Given the description of an element on the screen output the (x, y) to click on. 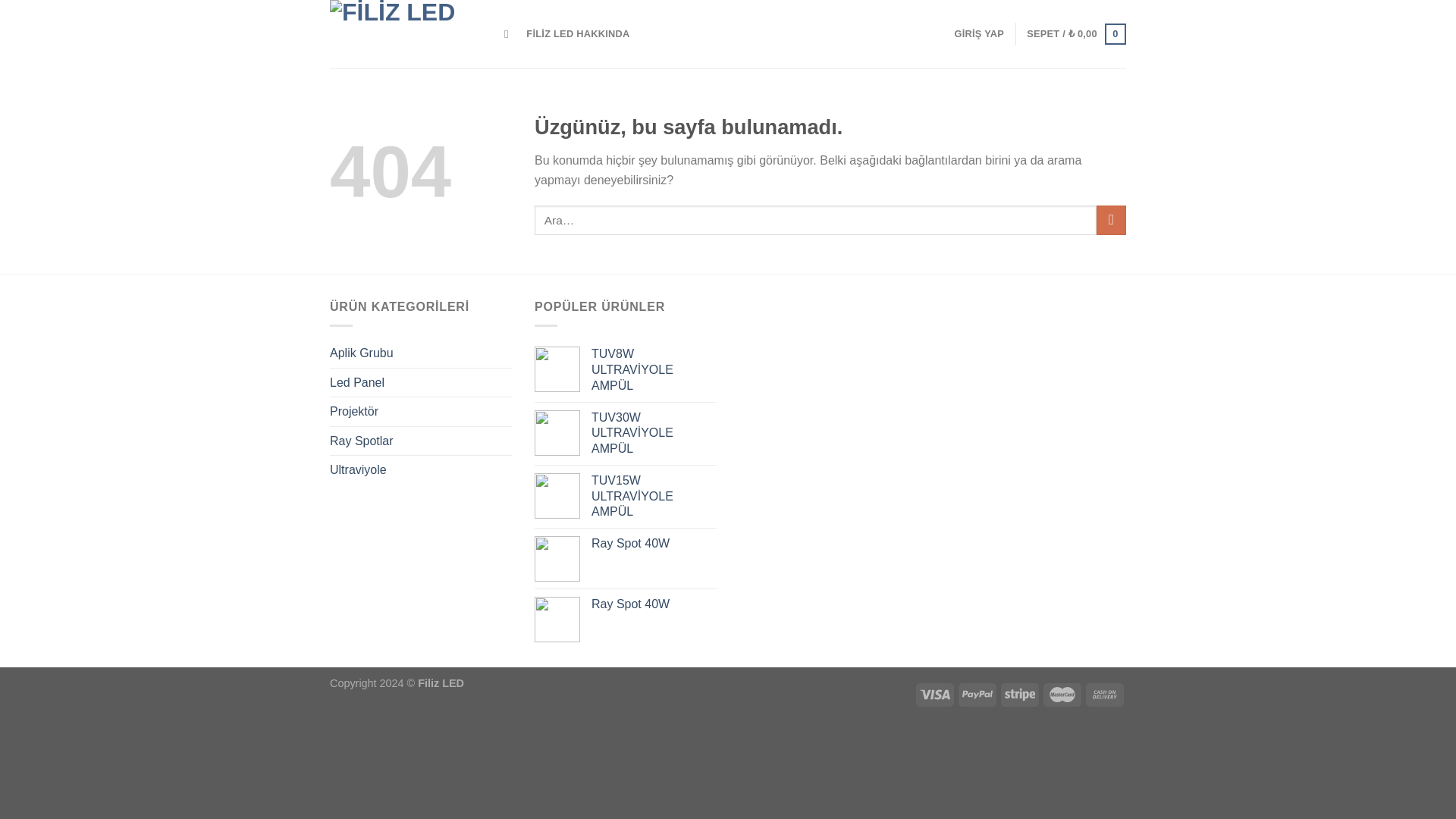
Led Panel (421, 382)
Aplik Grubu (421, 353)
Sepet (1075, 34)
Ultraviyole (421, 469)
Ray Spot 40W (653, 544)
Ray Spotlar (421, 440)
Filiz Led - Filiz Led (405, 33)
